Given the description of an element on the screen output the (x, y) to click on. 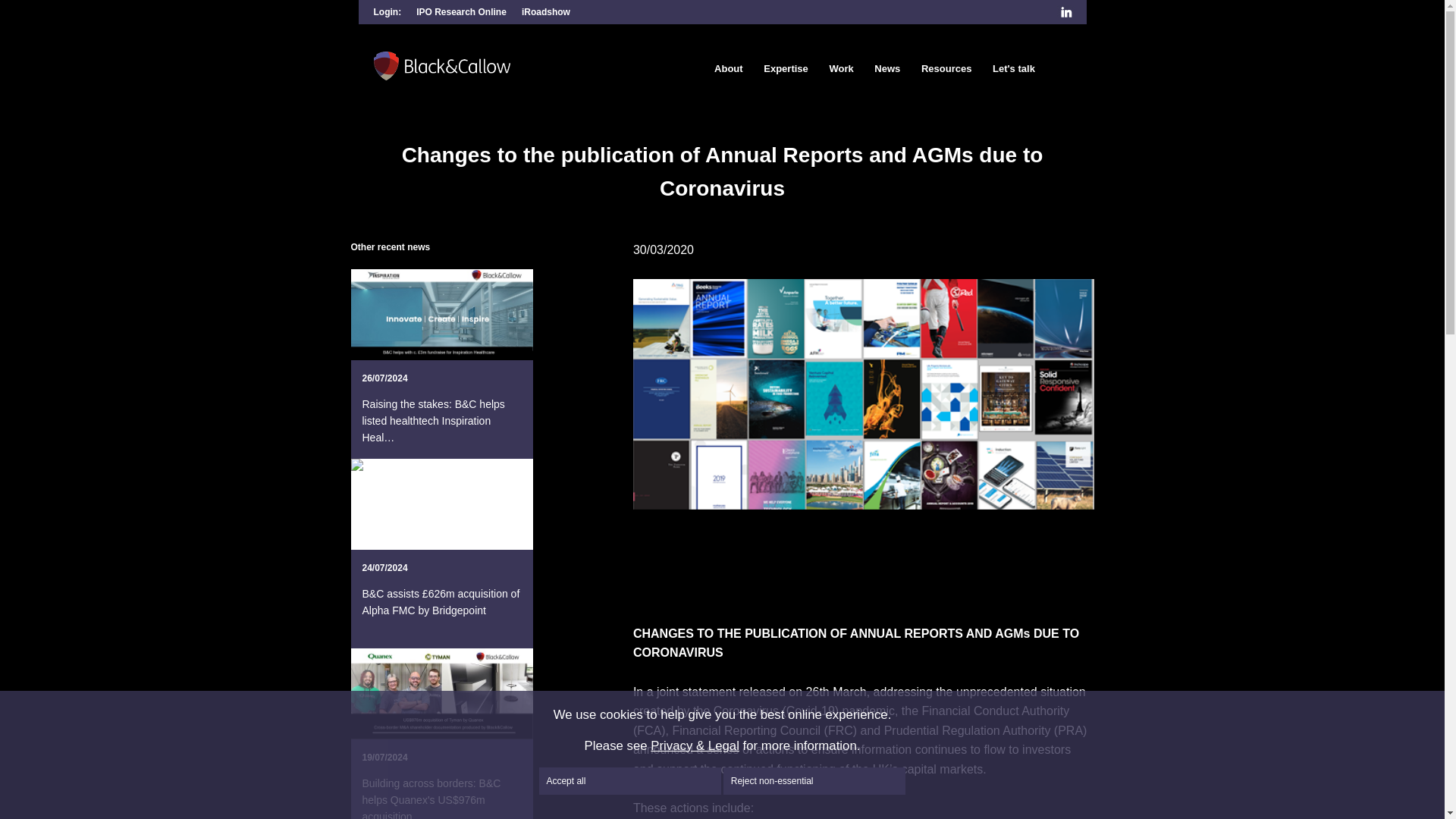
Expertise (785, 68)
Resources (945, 68)
Login: iRoadshow (545, 11)
Expertise (785, 68)
IPO Research Online (461, 11)
Resources (945, 68)
Work (840, 68)
Let's talk (1013, 68)
News (886, 68)
Let's talk (1013, 68)
Accept all (629, 780)
Login: IPO Research Online (461, 11)
Work (840, 68)
About (728, 68)
iRoadshow (545, 11)
